Given the description of an element on the screen output the (x, y) to click on. 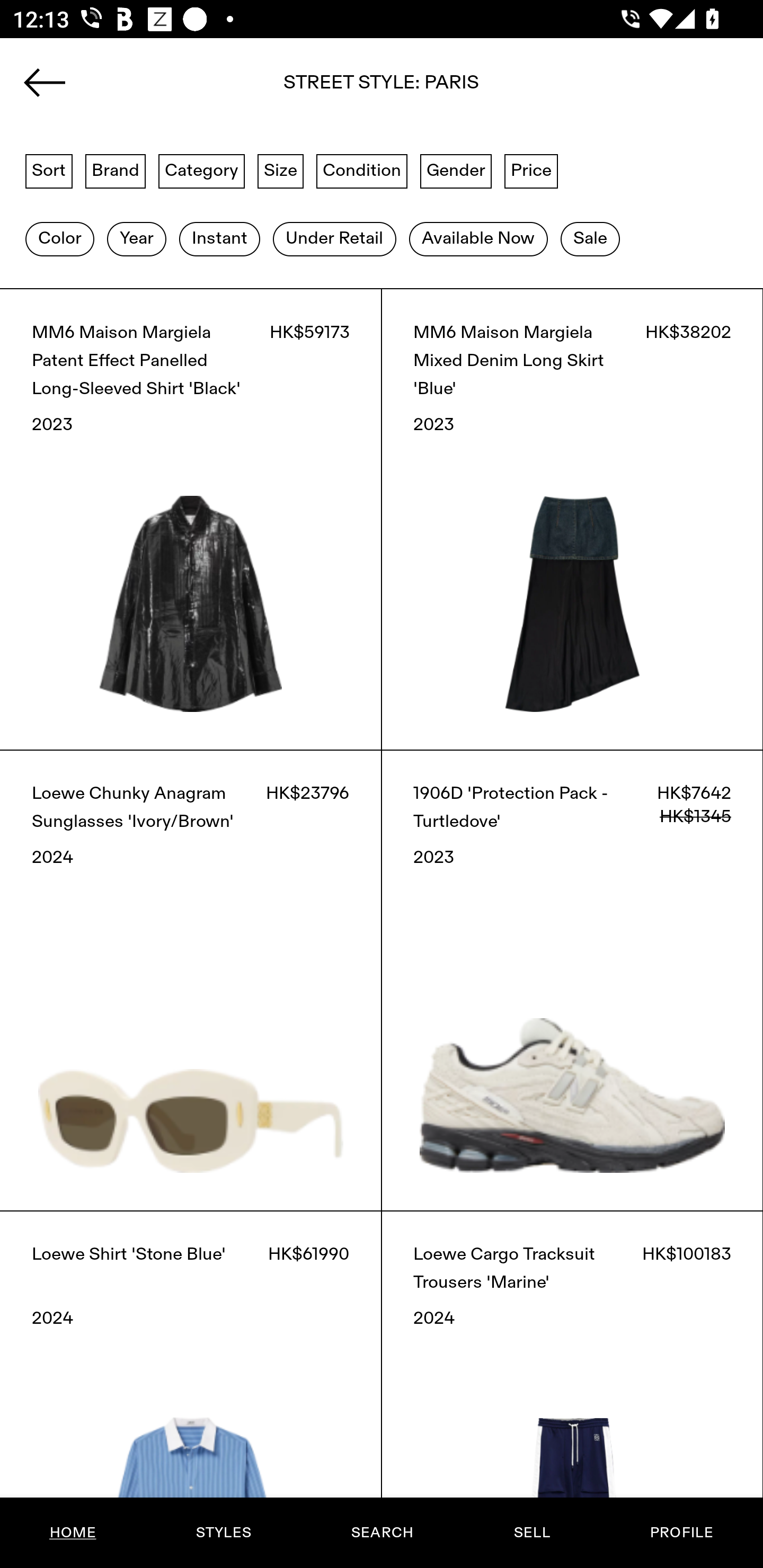
basketball shoes (381, 88)
Sort (48, 170)
Brand (115, 170)
Category (201, 170)
Size (280, 170)
Condition (361, 170)
Gender (455, 170)
Price (530, 170)
Color (59, 239)
Year (136, 239)
Instant (219, 239)
Under Retail (334, 239)
Available Now (477, 239)
Sale (589, 239)
Loewe Shirt 'Stone Blue' HK$61990 2024 (190, 1389)
HOME (72, 1532)
STYLES (222, 1532)
SEARCH (381, 1532)
SELL (531, 1532)
PROFILE (681, 1532)
